Given the description of an element on the screen output the (x, y) to click on. 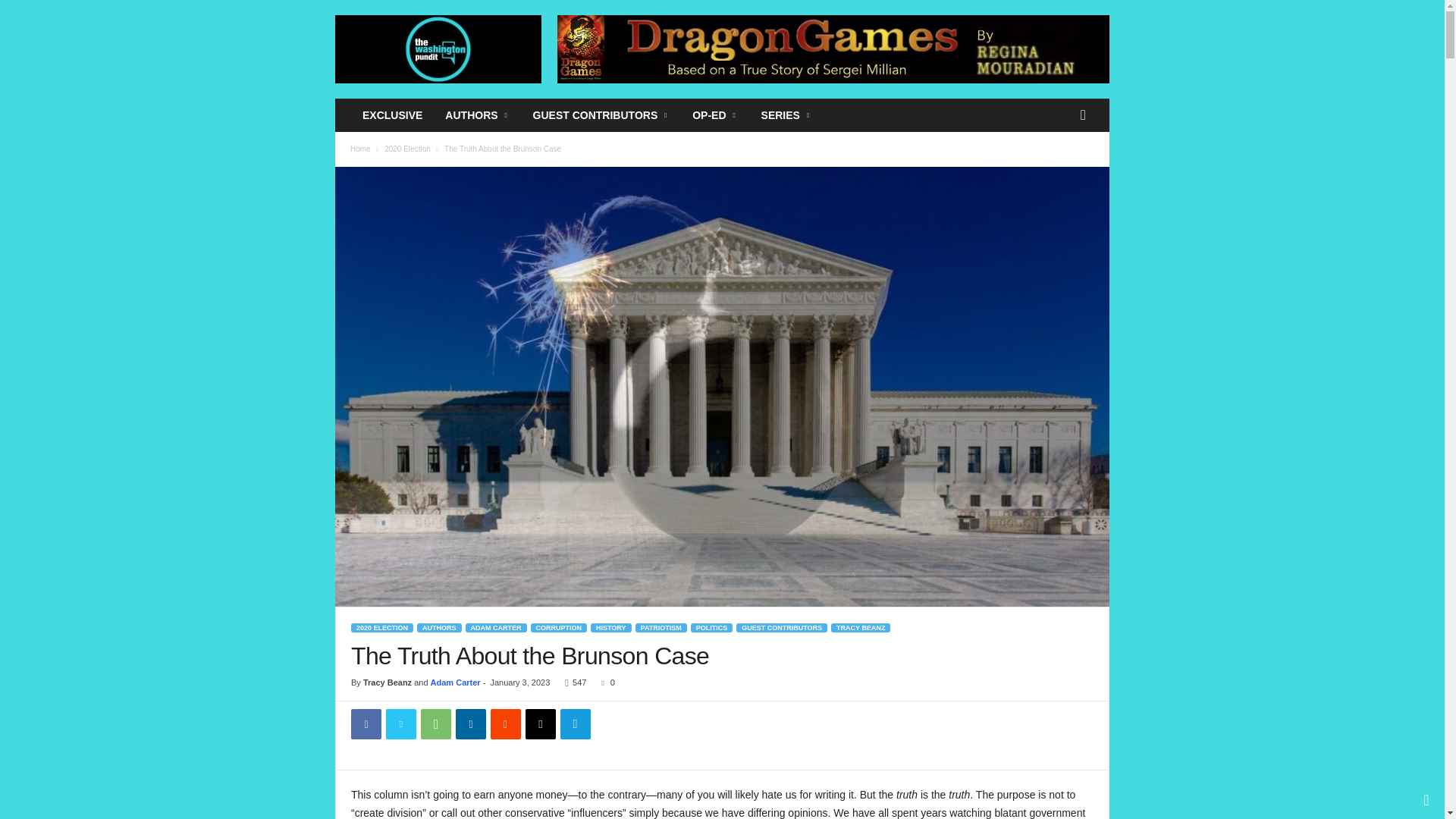
View all posts in 2020 Election (407, 148)
View all posts by Tracy Beanz (387, 682)
The Washington Pundit (437, 49)
View all posts by Adam Carter (455, 682)
The Washington Pundit (437, 48)
